Given the description of an element on the screen output the (x, y) to click on. 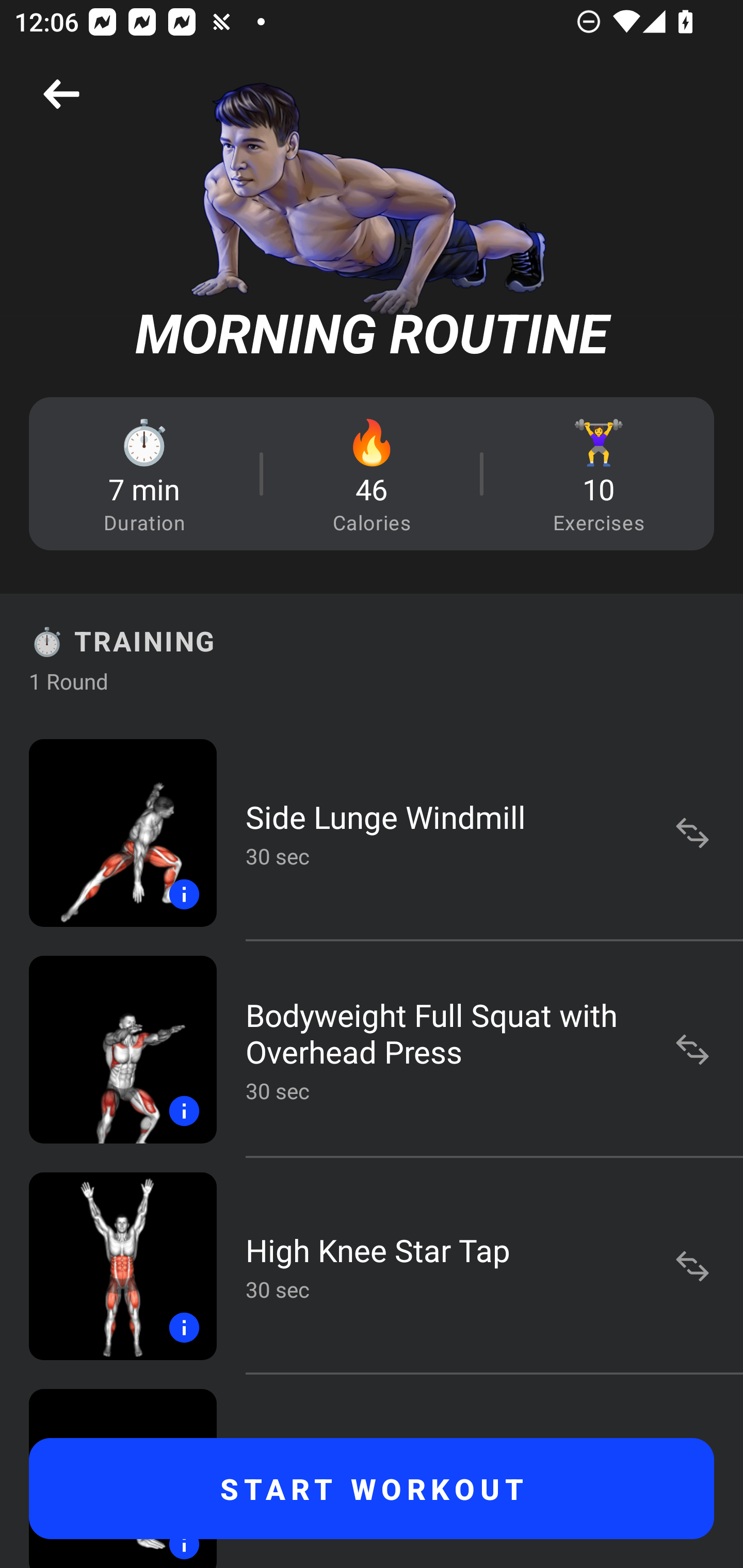
Side Lunge Windmill 30 sec (371, 832)
Bodyweight Full Squat with Overhead Press 30 sec (371, 1048)
High Knee Star Tap 30 sec (371, 1266)
START WORKOUT (371, 1488)
